Given the description of an element on the screen output the (x, y) to click on. 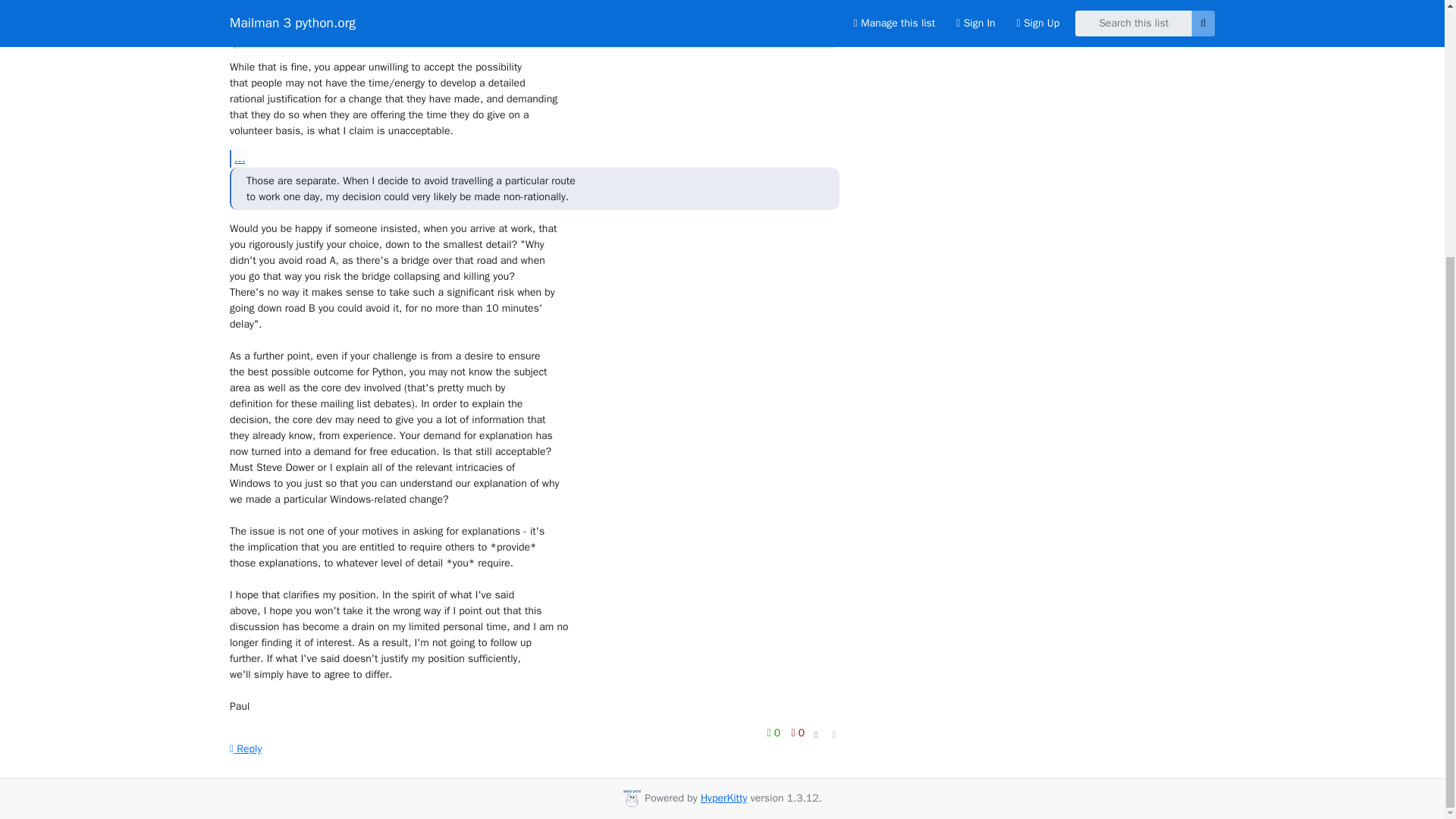
Reply (246, 748)
Reply (246, 748)
You must be logged-in to vote. (774, 732)
HyperKitty (724, 797)
... (238, 158)
You must be logged-in to vote. (797, 732)
0 (797, 732)
0 (774, 732)
